Given the description of an element on the screen output the (x, y) to click on. 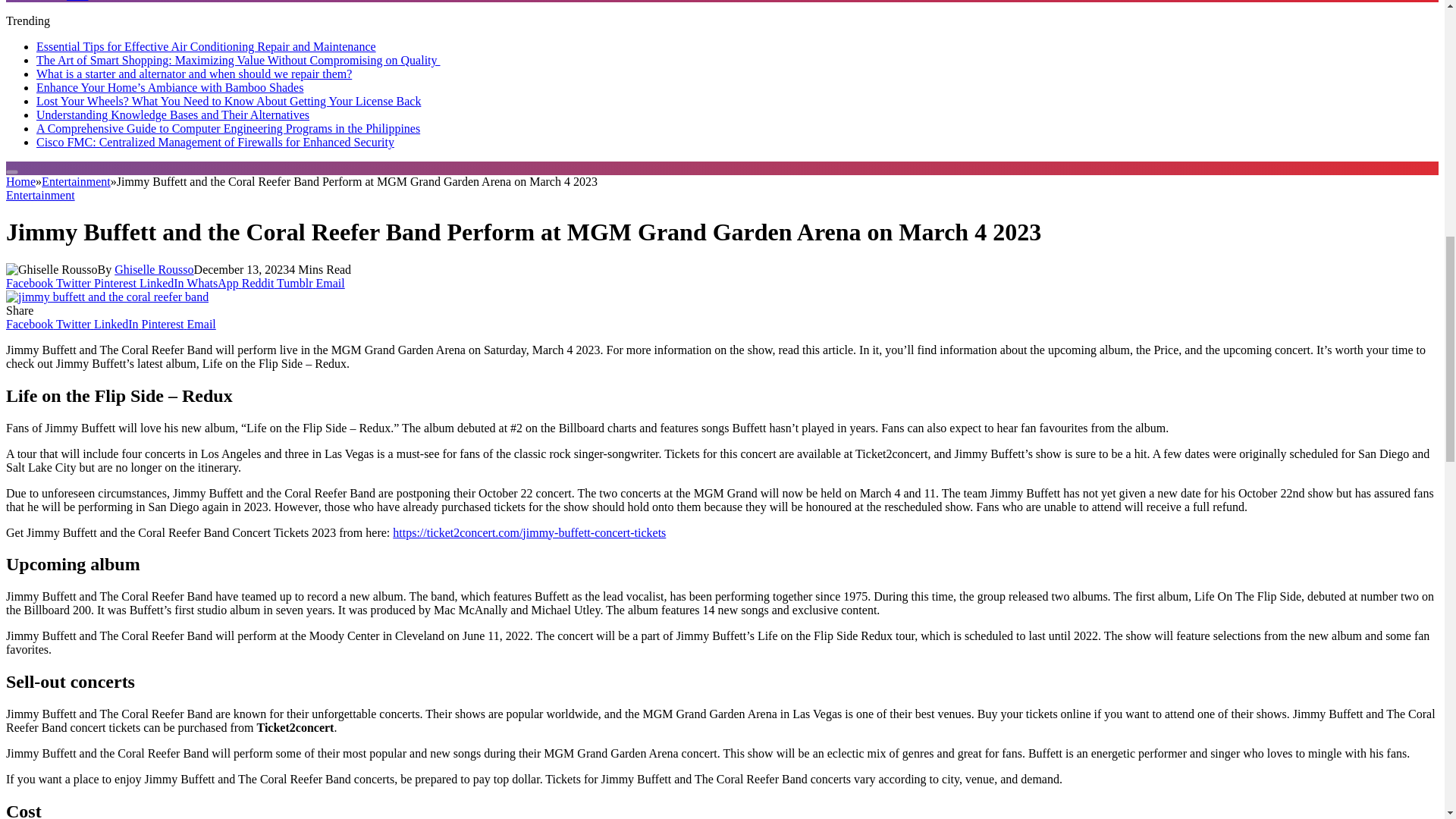
Share via Email (330, 282)
Share on Reddit (258, 282)
Share on Tumblr (295, 282)
Share on WhatsApp (213, 282)
Share on Pinterest (116, 282)
Share on Facebook (30, 282)
Share on LinkedIn (162, 282)
Posts by Ghiselle Rousso (154, 269)
